Given the description of an element on the screen output the (x, y) to click on. 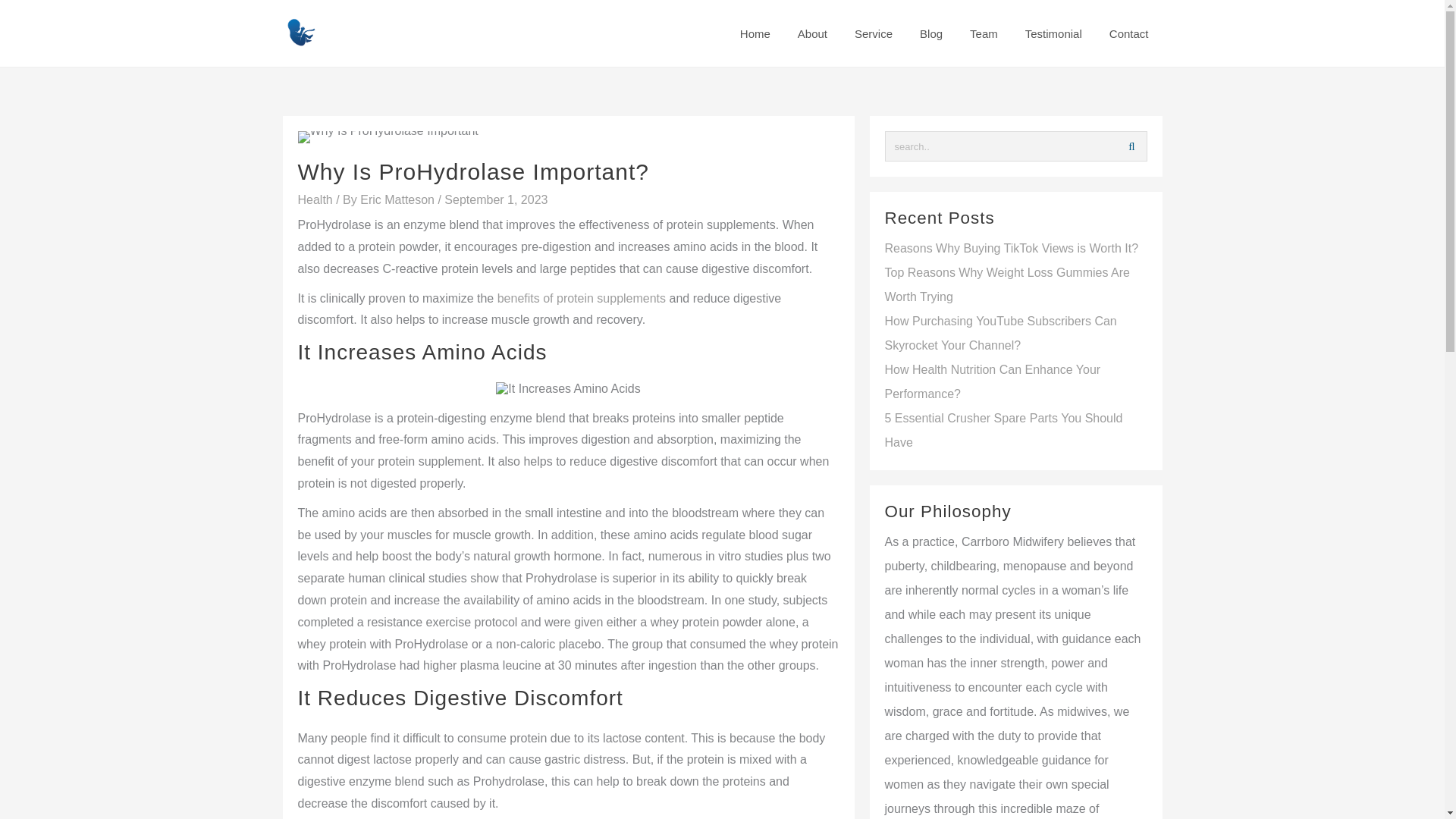
Search (1131, 146)
Blog (930, 33)
Service (873, 33)
How Health Nutrition Can Enhance Your Performance? (991, 381)
Eric Matteson (398, 199)
Team (983, 33)
Search (1131, 146)
Testimonial (1053, 33)
Contact (1128, 33)
Reasons Why Buying TikTok Views is Worth It? (1010, 247)
View all posts by Eric Matteson (398, 199)
5 Essential Crusher Spare Parts You Should Have (1002, 429)
Health (314, 199)
About (812, 33)
Home (755, 33)
